Given the description of an element on the screen output the (x, y) to click on. 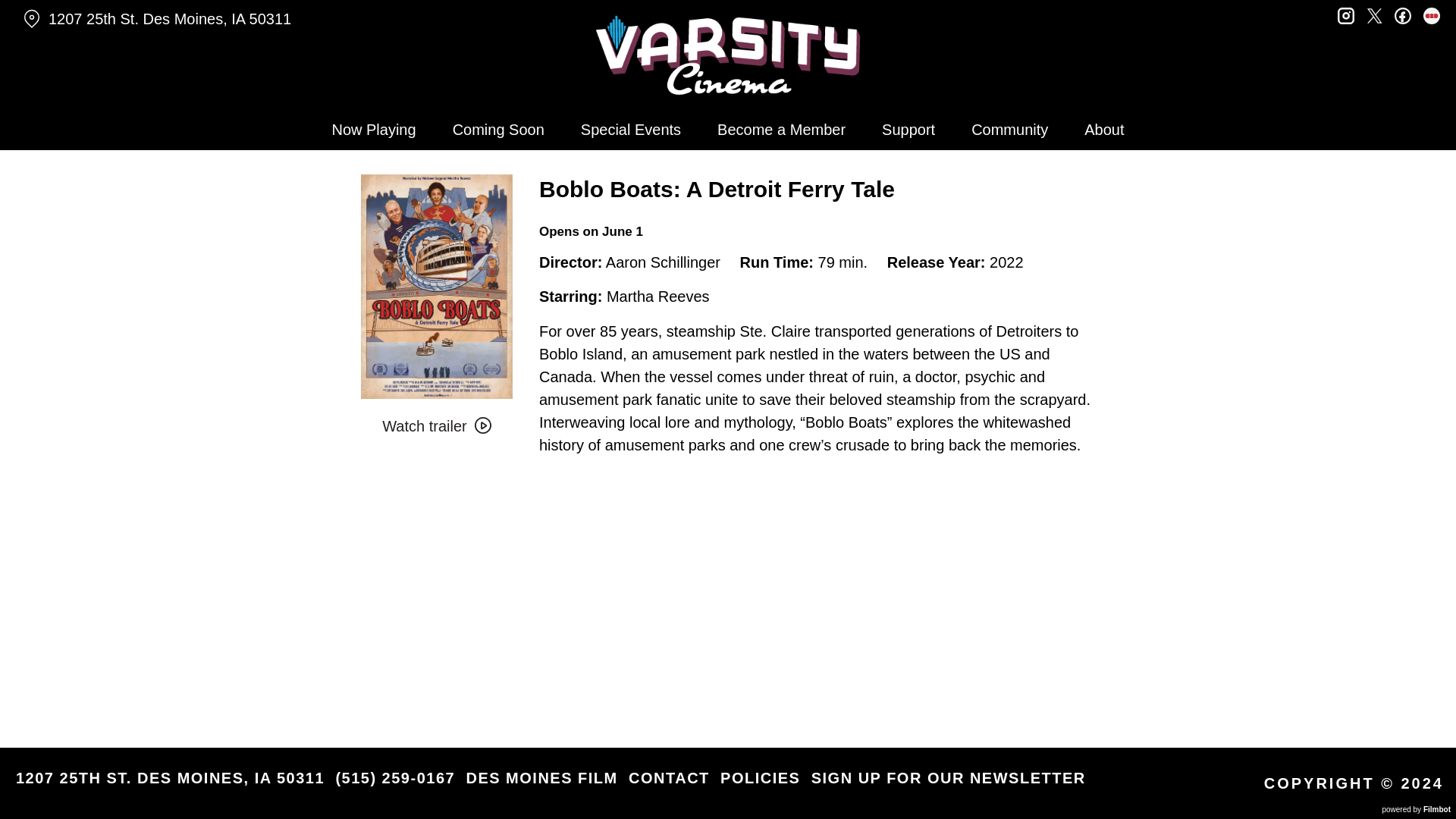
Become a Member (780, 128)
Now Playing (373, 128)
Support (908, 128)
1207 25th St. Des Moines, IA 50311 (252, 18)
Community (1009, 128)
About (1103, 128)
Special Events (631, 128)
Coming Soon (498, 128)
